Given the description of an element on the screen output the (x, y) to click on. 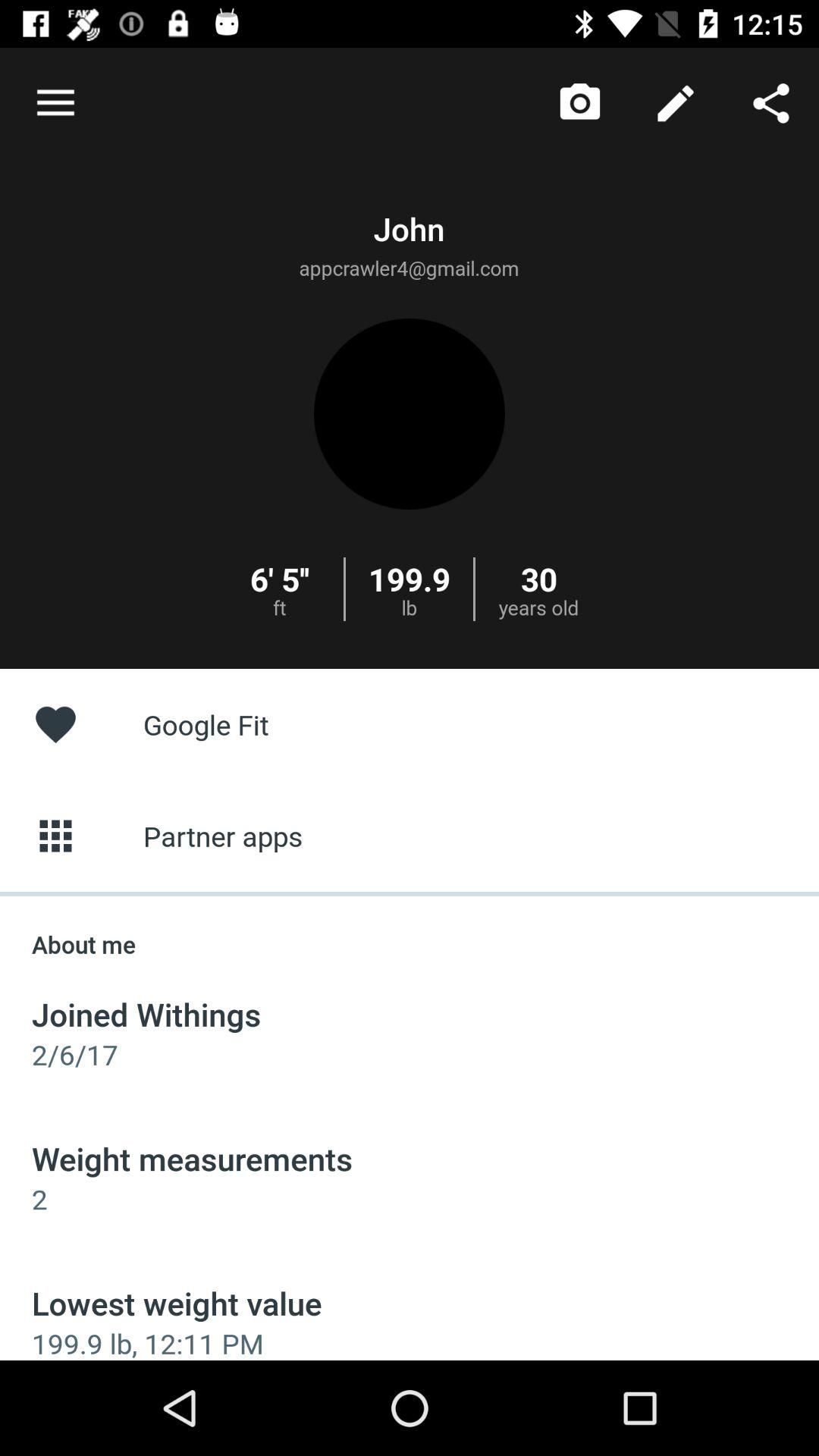
launch item at the top left corner (55, 103)
